Given the description of an element on the screen output the (x, y) to click on. 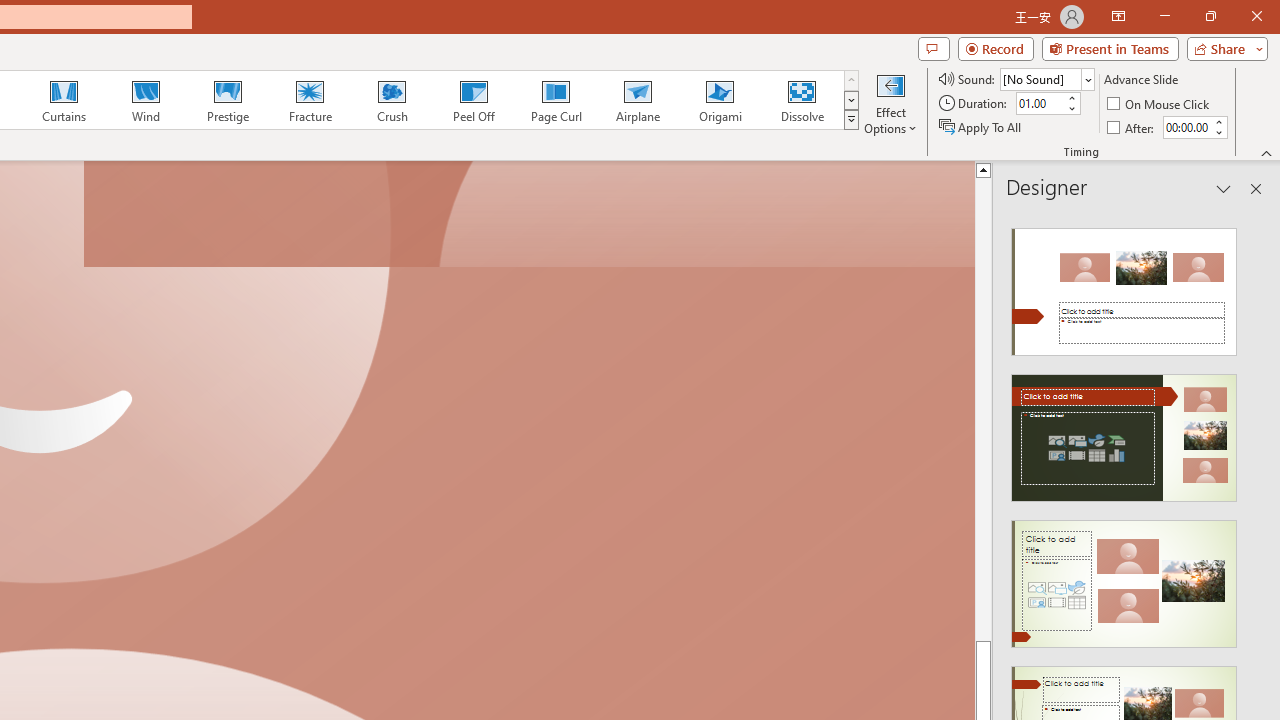
Crush (391, 100)
On Mouse Click (1159, 103)
Design Idea (1124, 577)
Airplane (637, 100)
Page Curl (555, 100)
Class: NetUIImage (851, 119)
Collapse the Ribbon (1267, 152)
Recommended Design: Design Idea (1124, 286)
Restore Down (1210, 16)
Fracture (309, 100)
Page up (983, 408)
Prestige (227, 100)
Wind (145, 100)
Duration (1039, 103)
Camera 7, No camera detected. (529, 215)
